Given the description of an element on the screen output the (x, y) to click on. 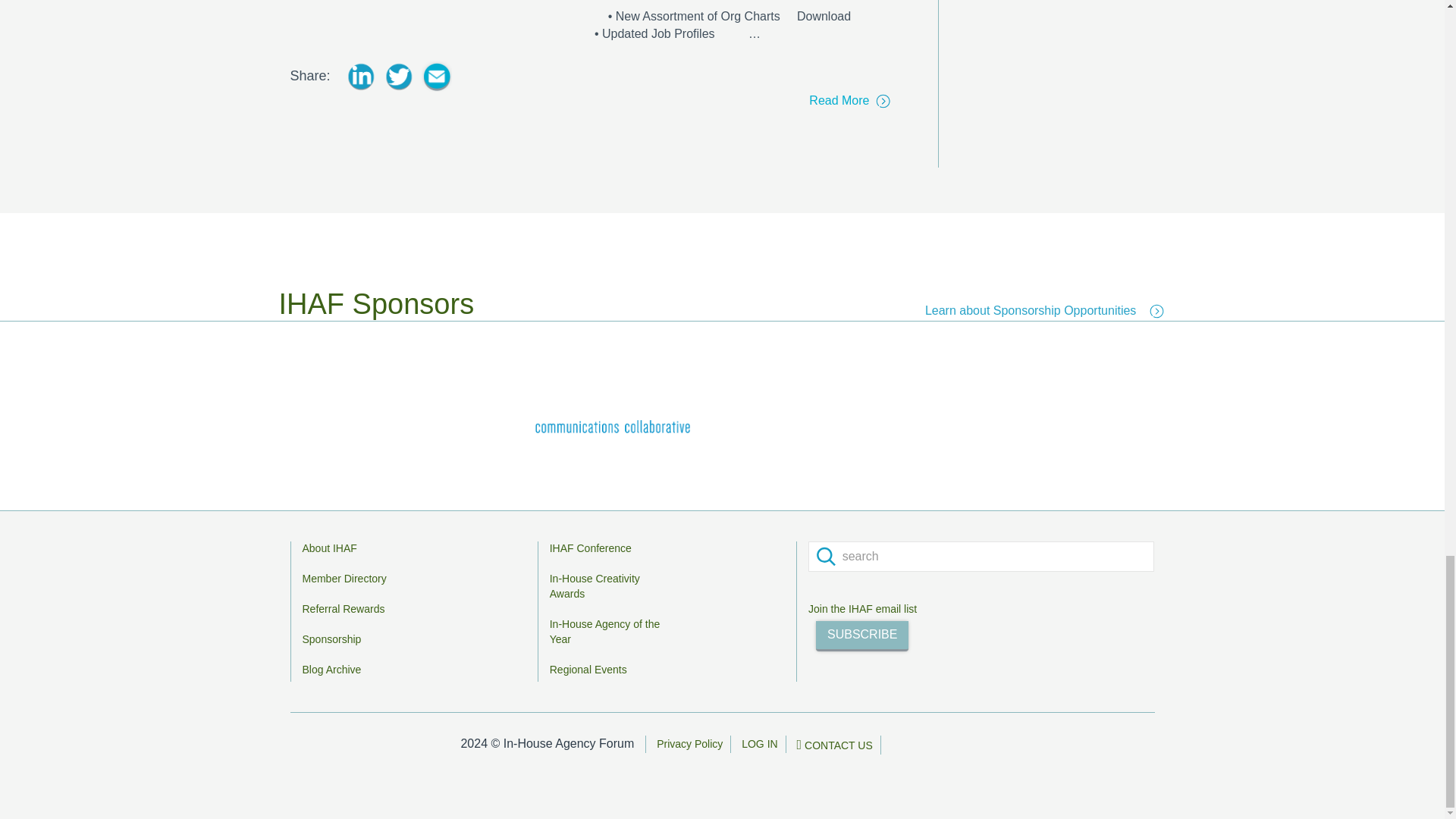
pexels-max-fischer-5872188 (428, 15)
